Given the description of an element on the screen output the (x, y) to click on. 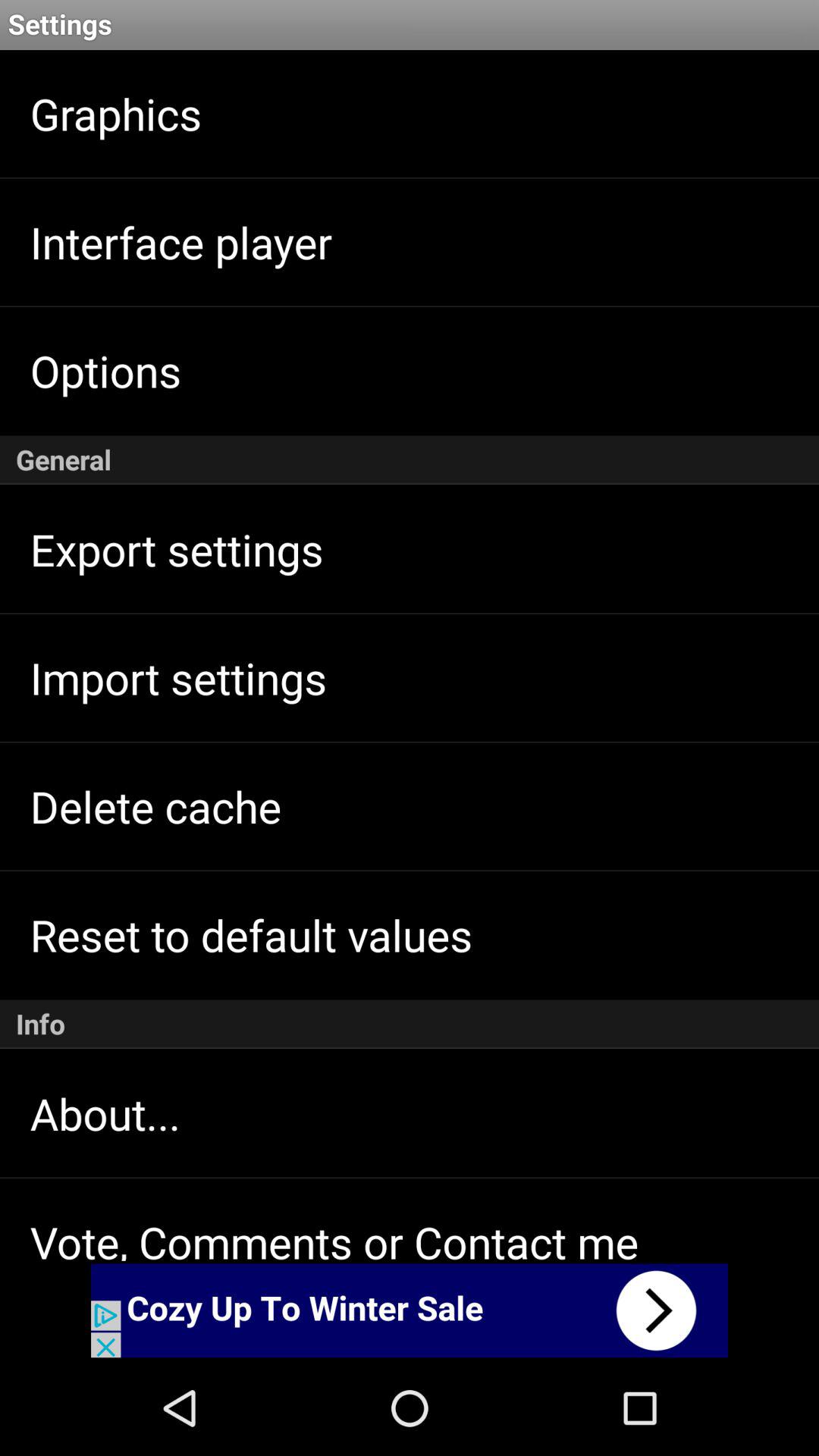
advetisement link (409, 1310)
